Given the description of an element on the screen output the (x, y) to click on. 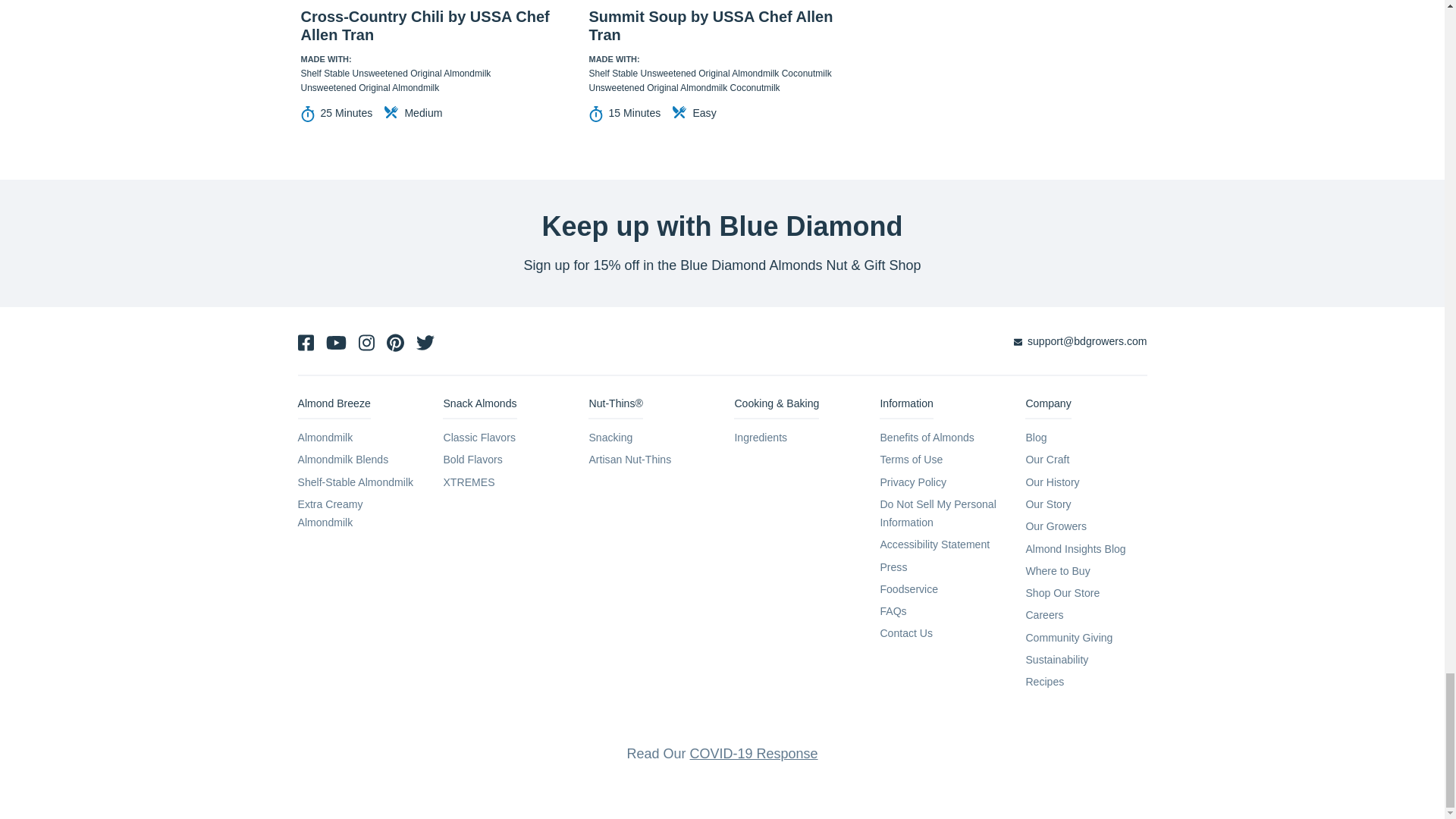
Classic Flavors (478, 437)
Extra Creamy Almondmilk (329, 512)
Bold Flavors (472, 459)
Almond Breeze (333, 407)
Snacking (609, 437)
Almondmilk (324, 437)
Shelf-Stable Almondmilk (355, 481)
Almondmilk Blends (342, 459)
